Given the description of an element on the screen output the (x, y) to click on. 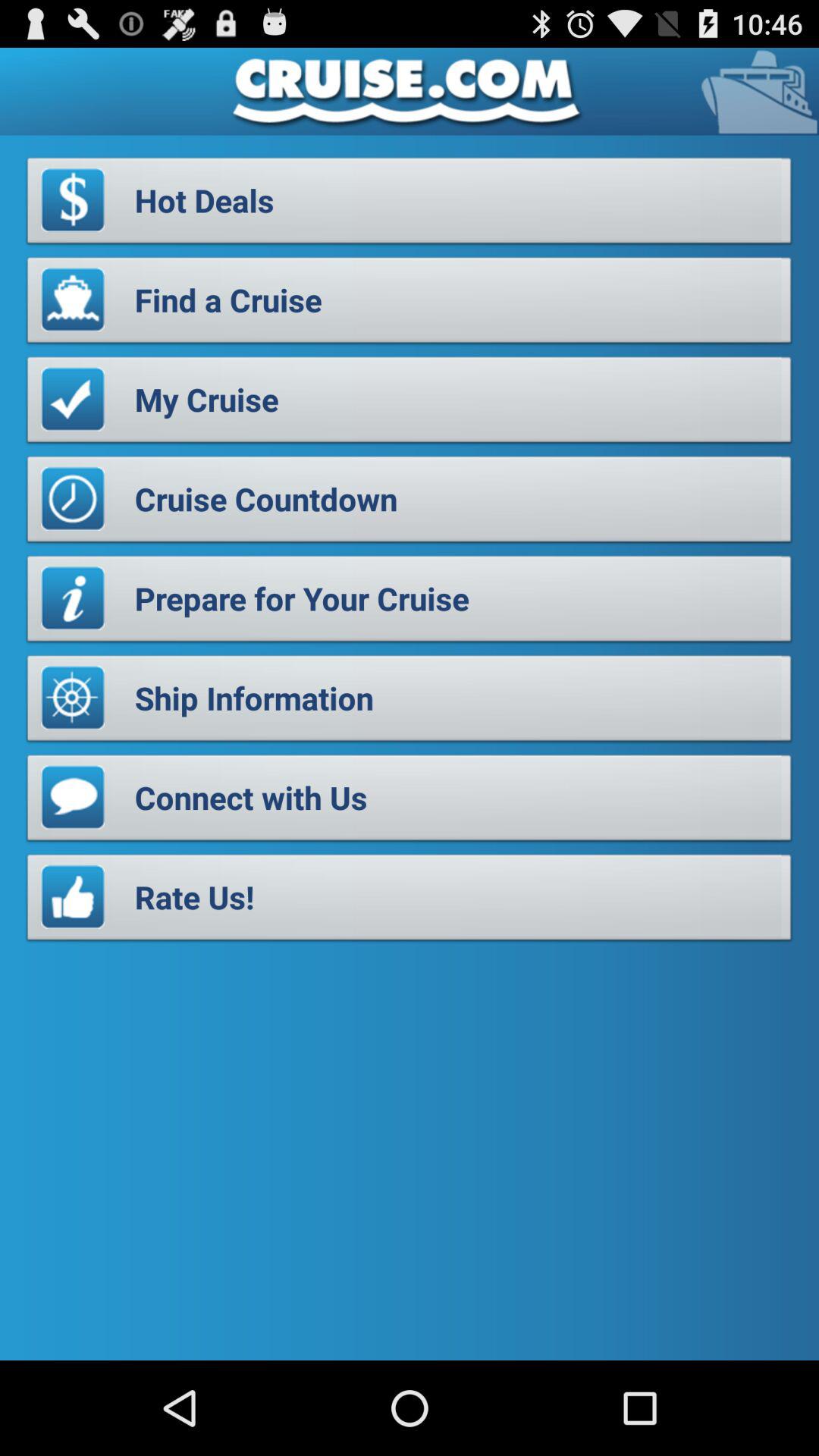
turn off the button below hot deals (409, 304)
